Given the description of an element on the screen output the (x, y) to click on. 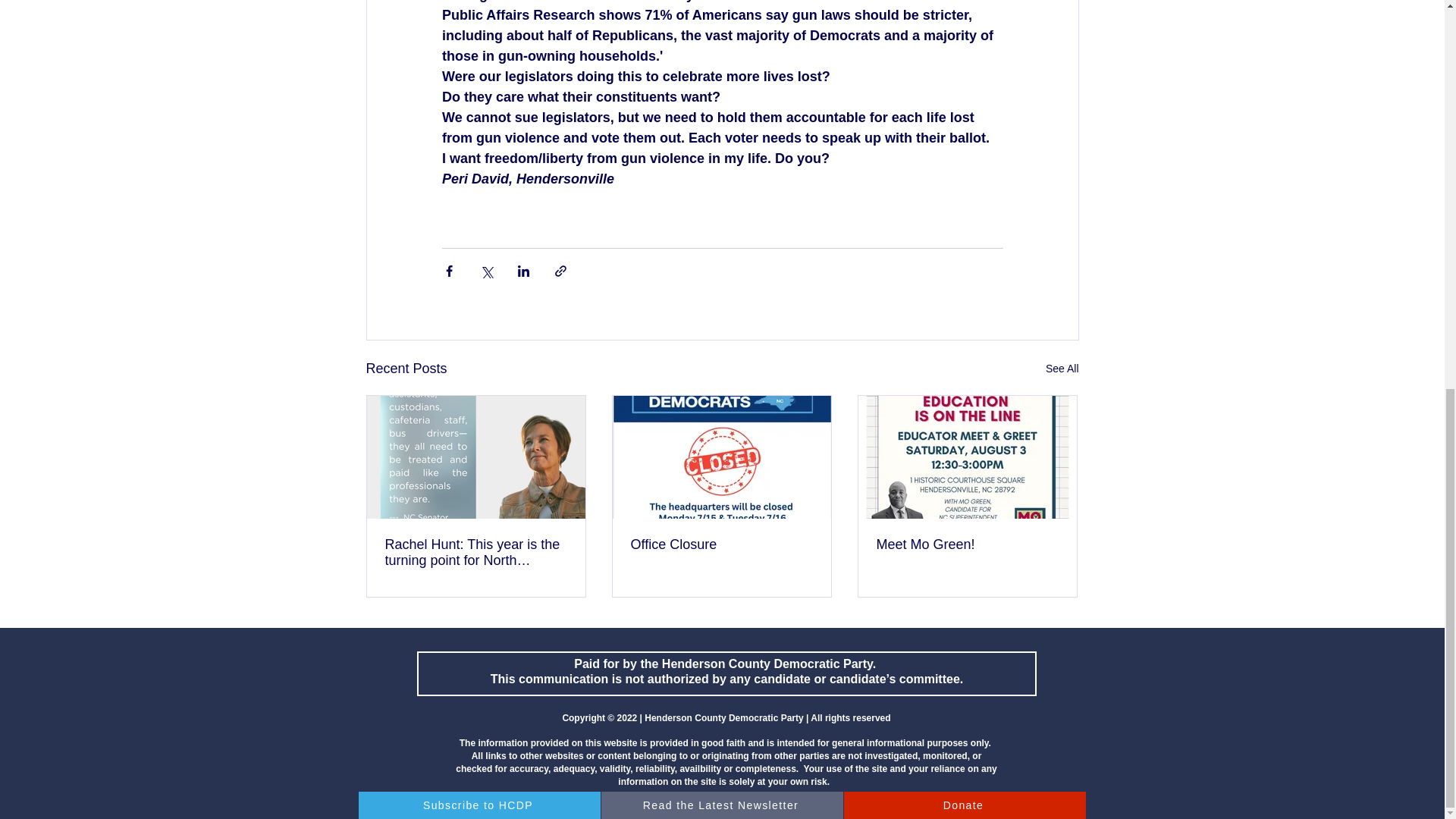
See All (1061, 368)
